Given the description of an element on the screen output the (x, y) to click on. 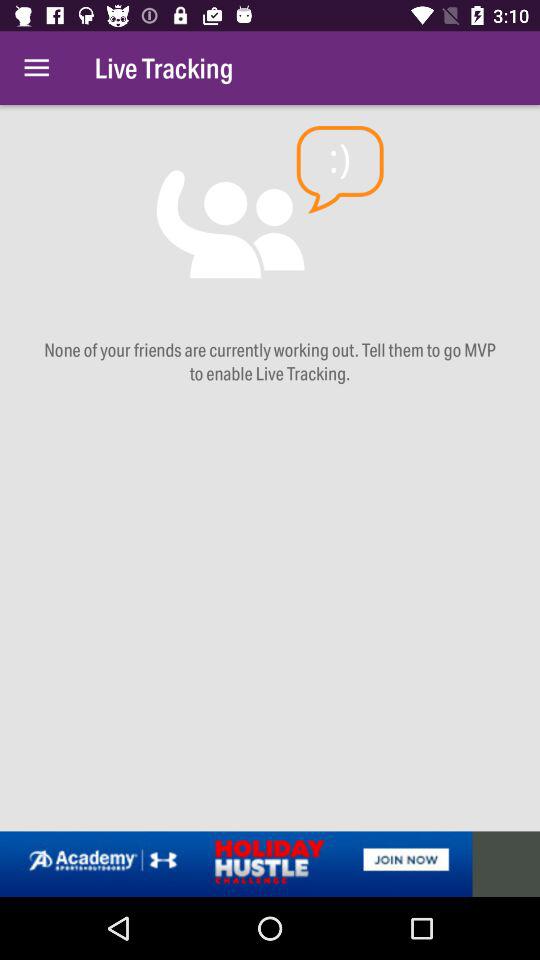
advertisement page (270, 864)
